Given the description of an element on the screen output the (x, y) to click on. 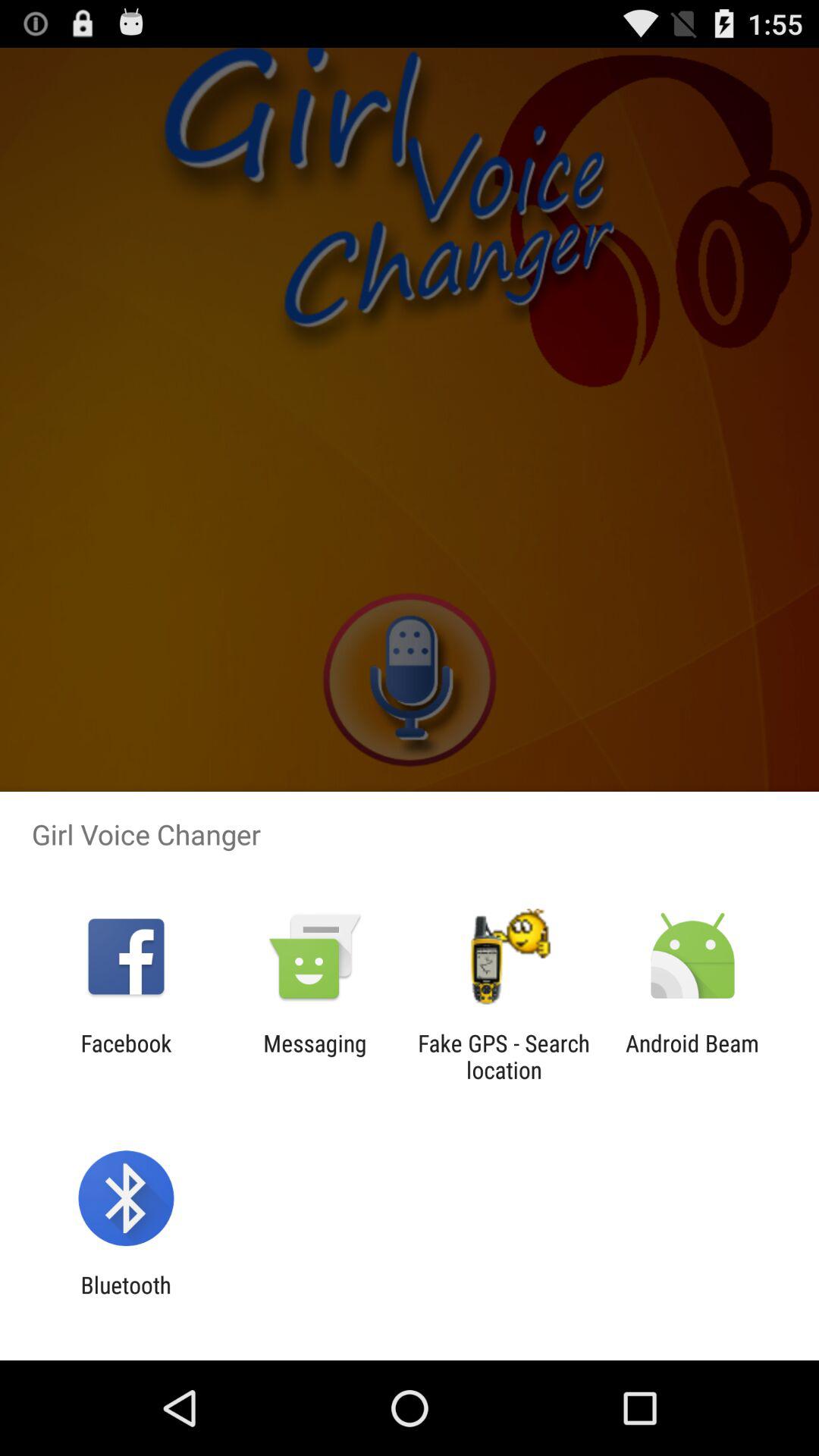
open messaging app (314, 1056)
